Given the description of an element on the screen output the (x, y) to click on. 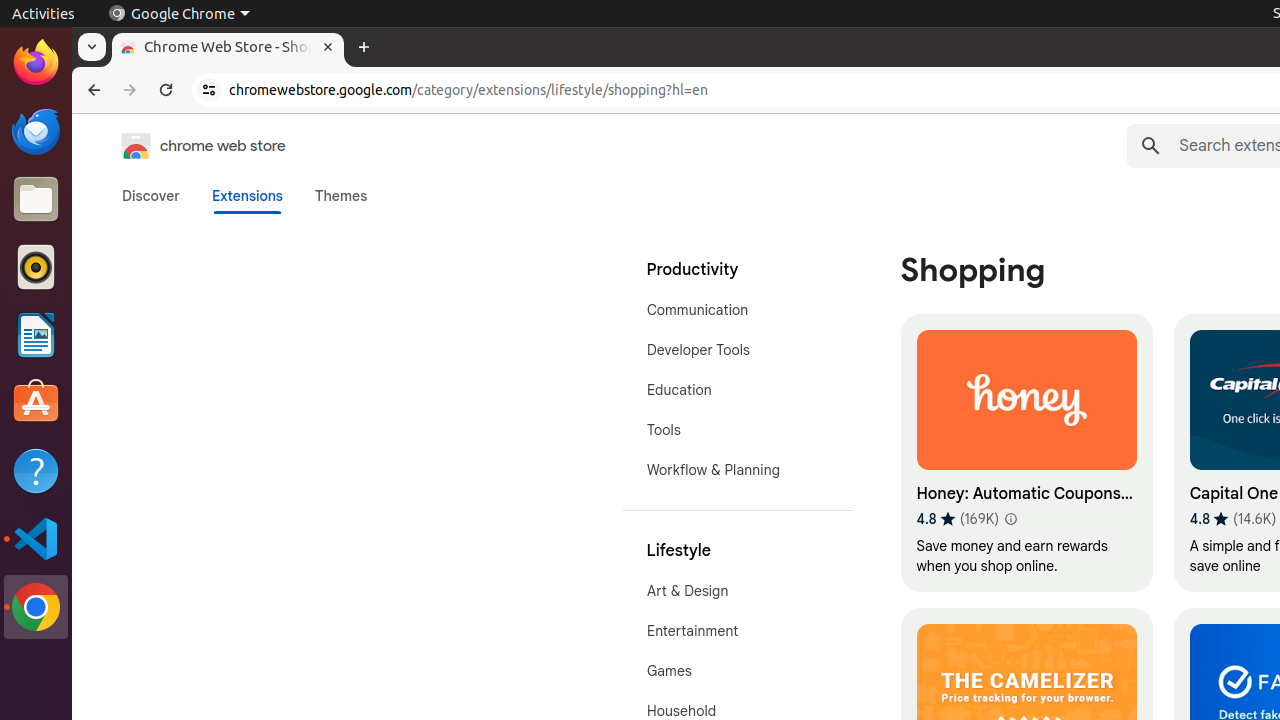
LibreOffice Writer Element type: push-button (36, 334)
Workflow & Planning Element type: menu-item (737, 470)
Ubuntu Software Element type: push-button (36, 402)
Education Element type: menu-item (737, 389)
Google Chrome Element type: push-button (36, 607)
